Given the description of an element on the screen output the (x, y) to click on. 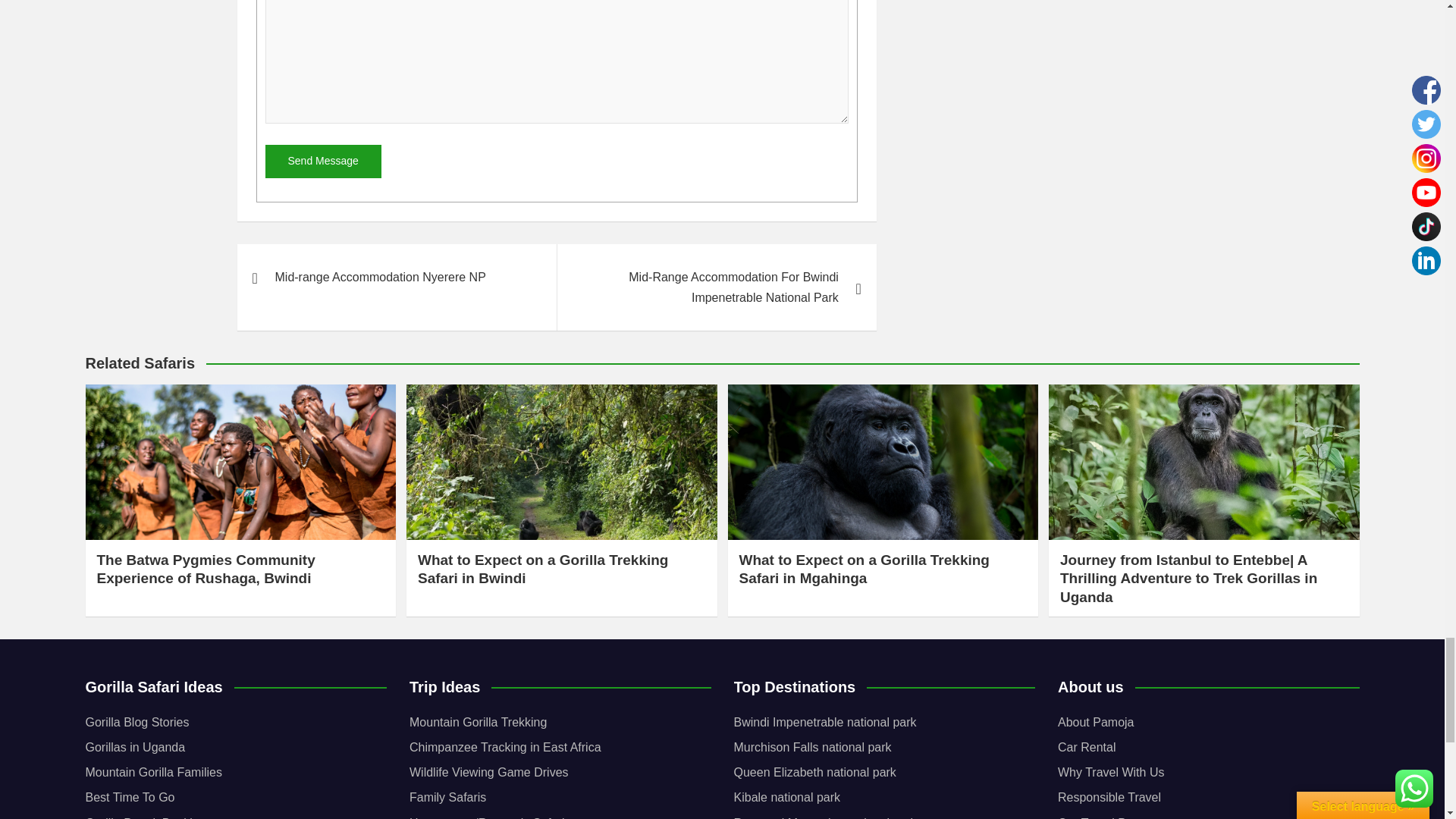
Send Message (322, 161)
